Given the description of an element on the screen output the (x, y) to click on. 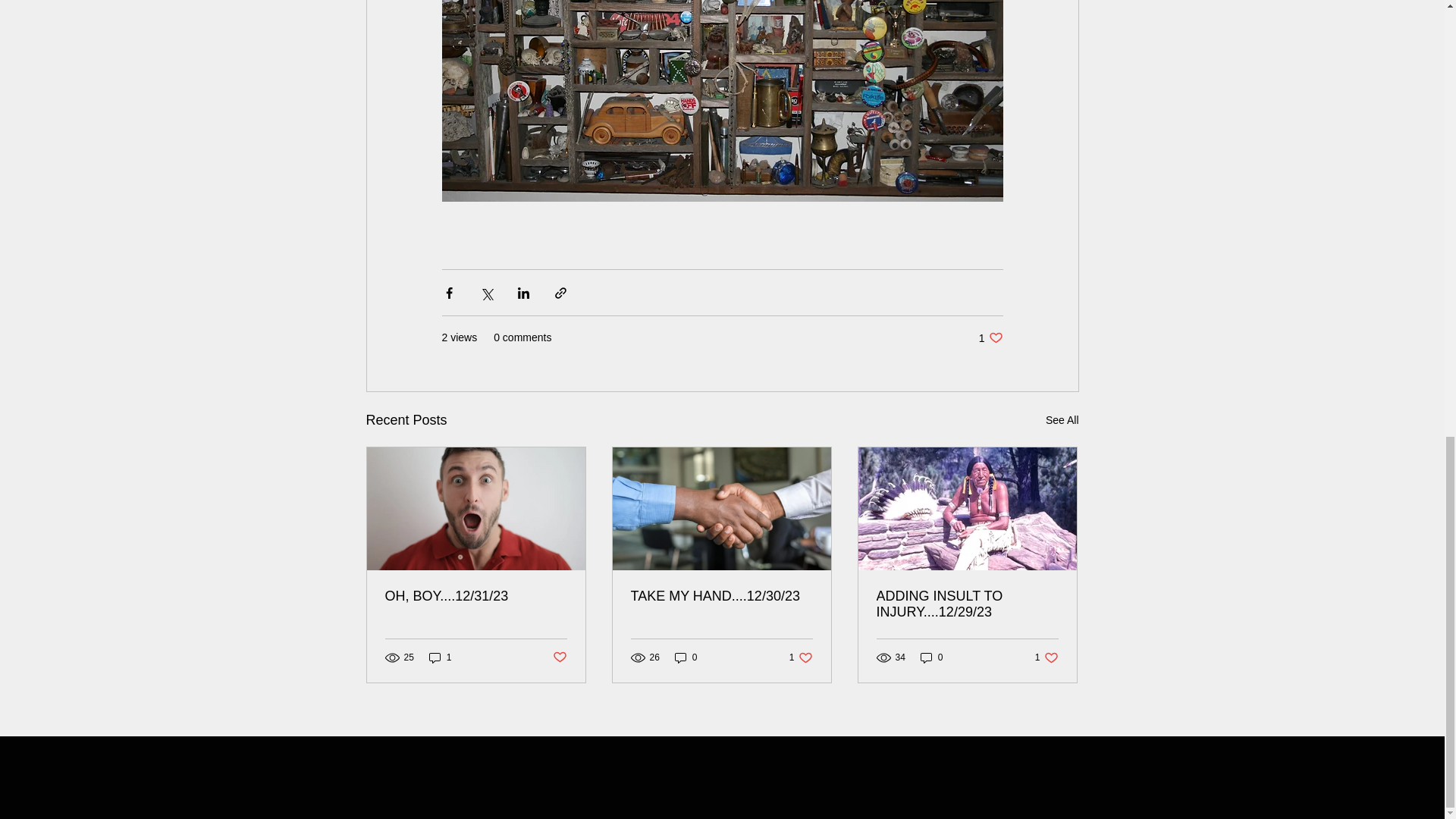
See All (800, 657)
0 (1061, 420)
Post not marked as liked (931, 657)
1 (990, 337)
0 (558, 657)
